Given the description of an element on the screen output the (x, y) to click on. 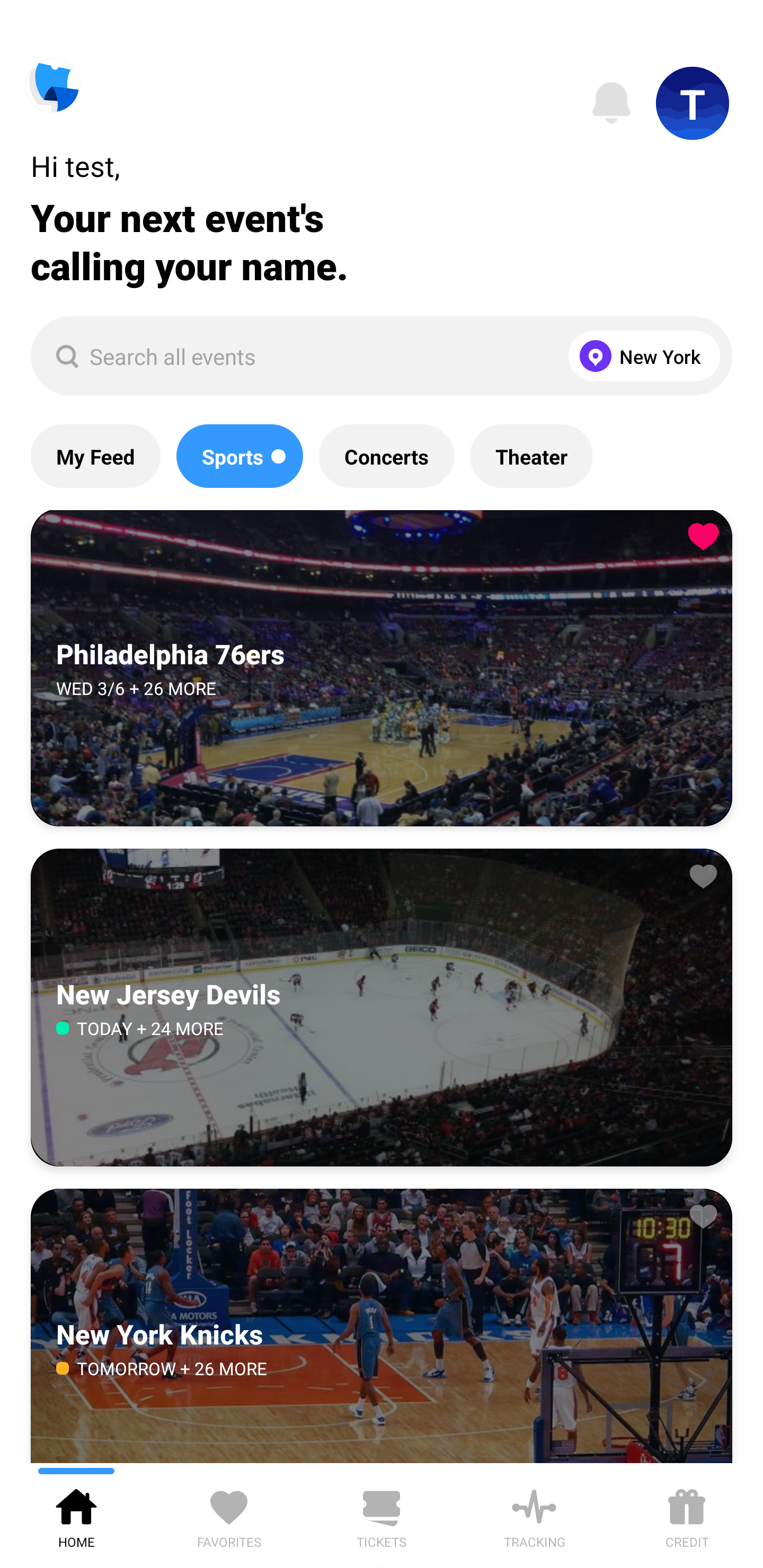
T (692, 103)
New York (640, 355)
My Feed (95, 455)
Sports (239, 455)
Concerts (385, 455)
Theater (531, 455)
HOME (76, 1515)
FAVORITES (228, 1515)
TICKETS (381, 1515)
TRACKING (533, 1515)
CREDIT (686, 1515)
